Given the description of an element on the screen output the (x, y) to click on. 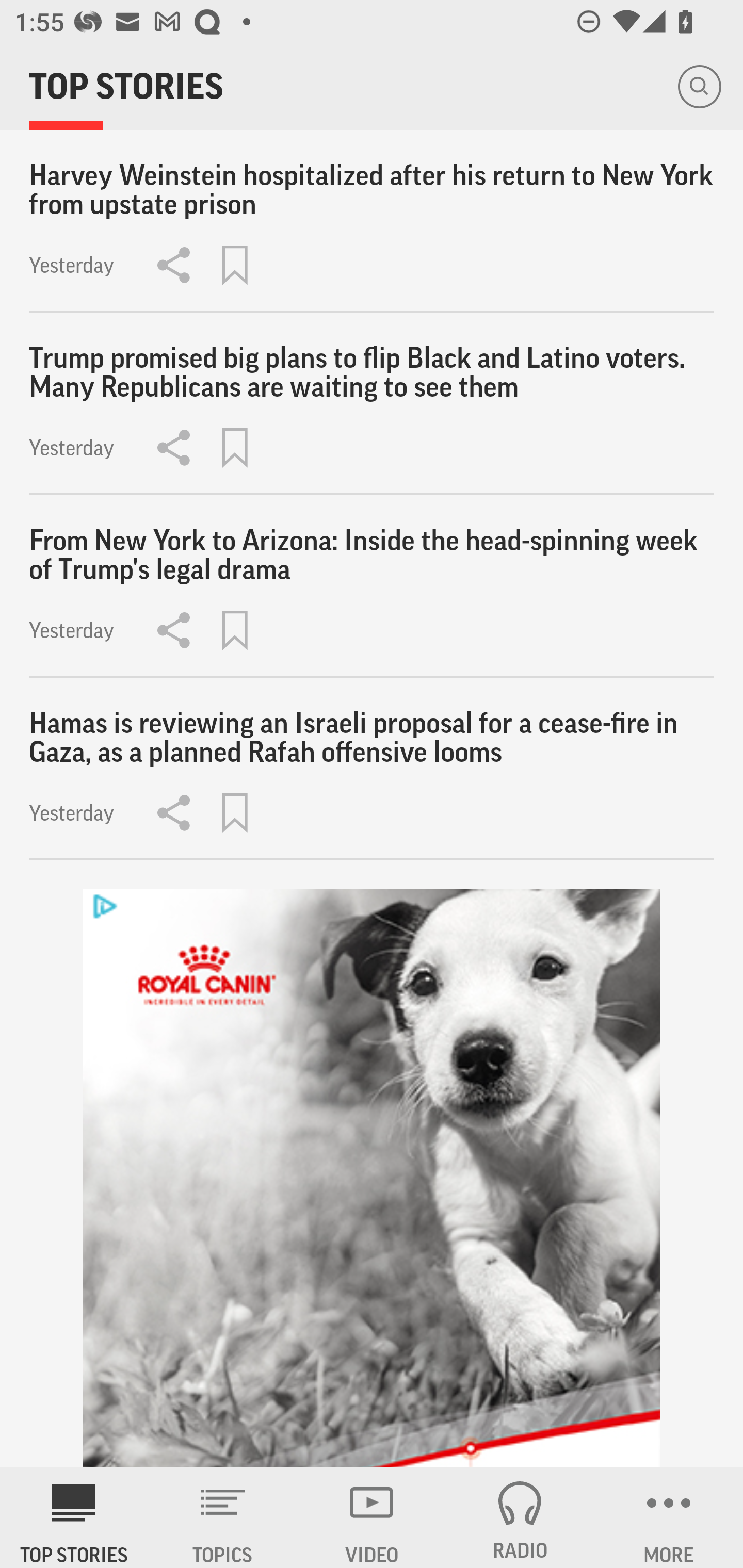
AP News TOP STORIES (74, 1517)
TOPICS (222, 1517)
VIDEO (371, 1517)
RADIO (519, 1517)
MORE (668, 1517)
